Given the description of an element on the screen output the (x, y) to click on. 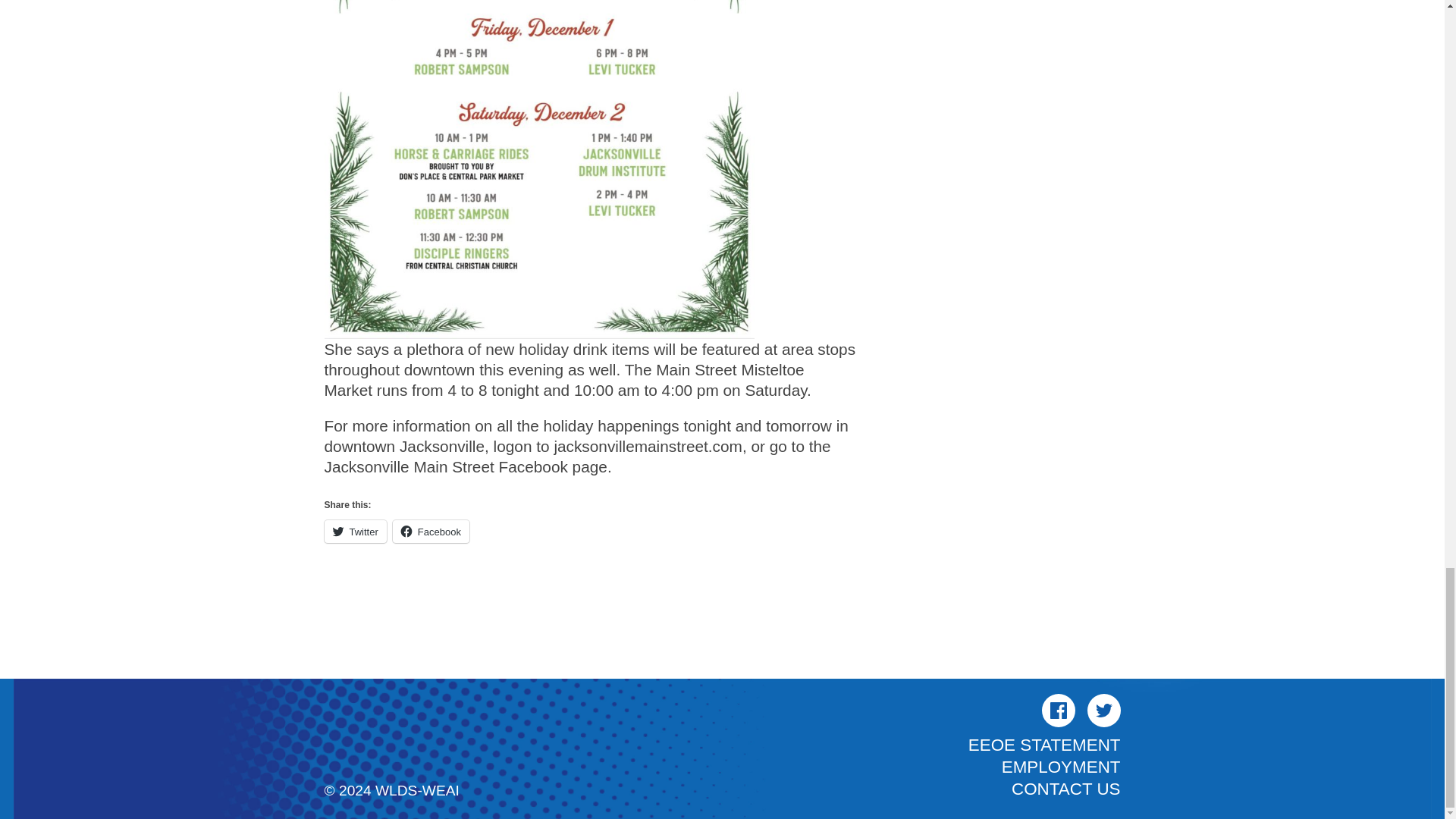
Click to share on Facebook (430, 531)
Click to share on Twitter (355, 531)
Facebook (430, 531)
Twitter (355, 531)
Facebook (1058, 710)
